Given the description of an element on the screen output the (x, y) to click on. 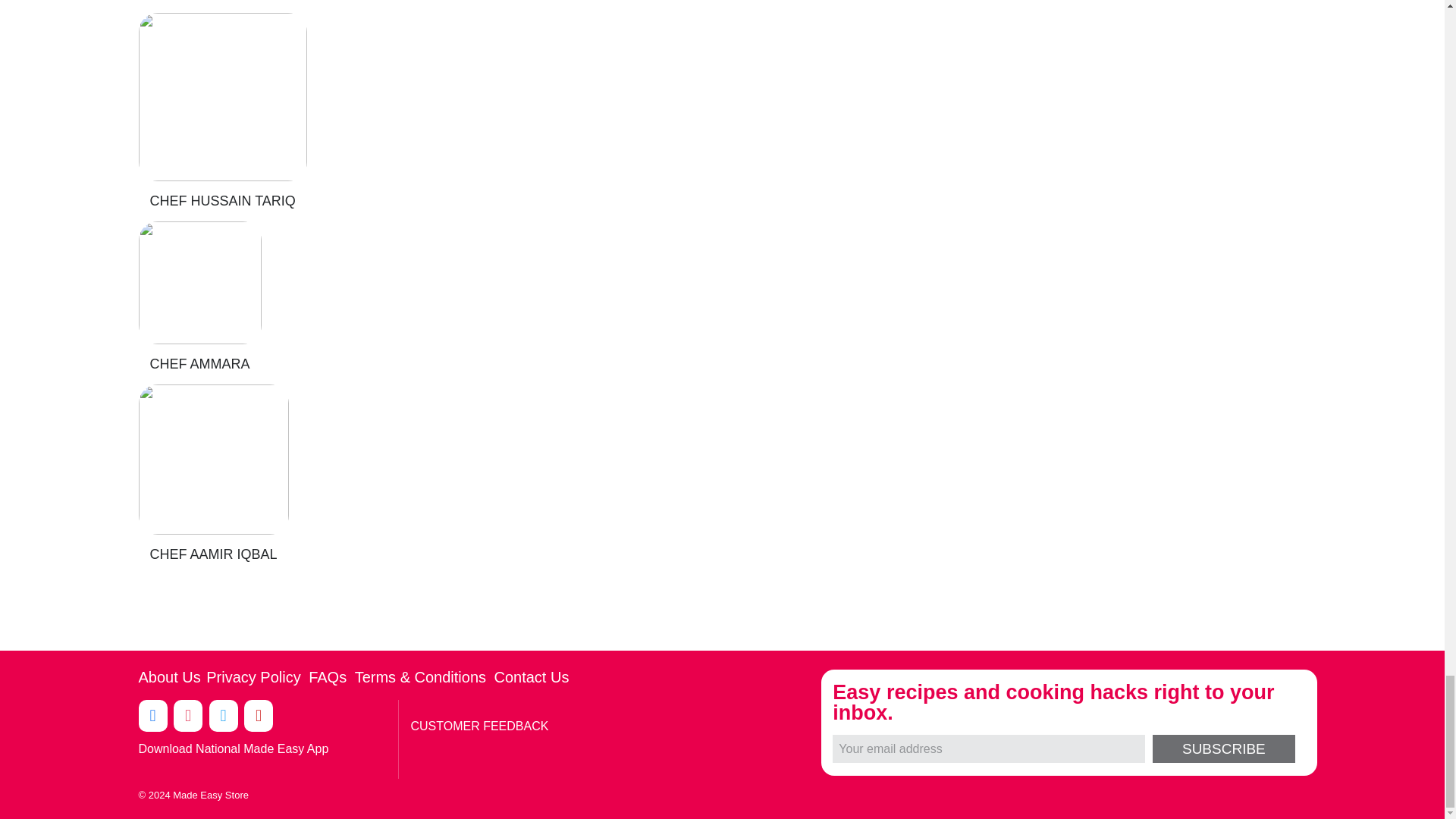
Subscribe (1223, 748)
